Given the description of an element on the screen output the (x, y) to click on. 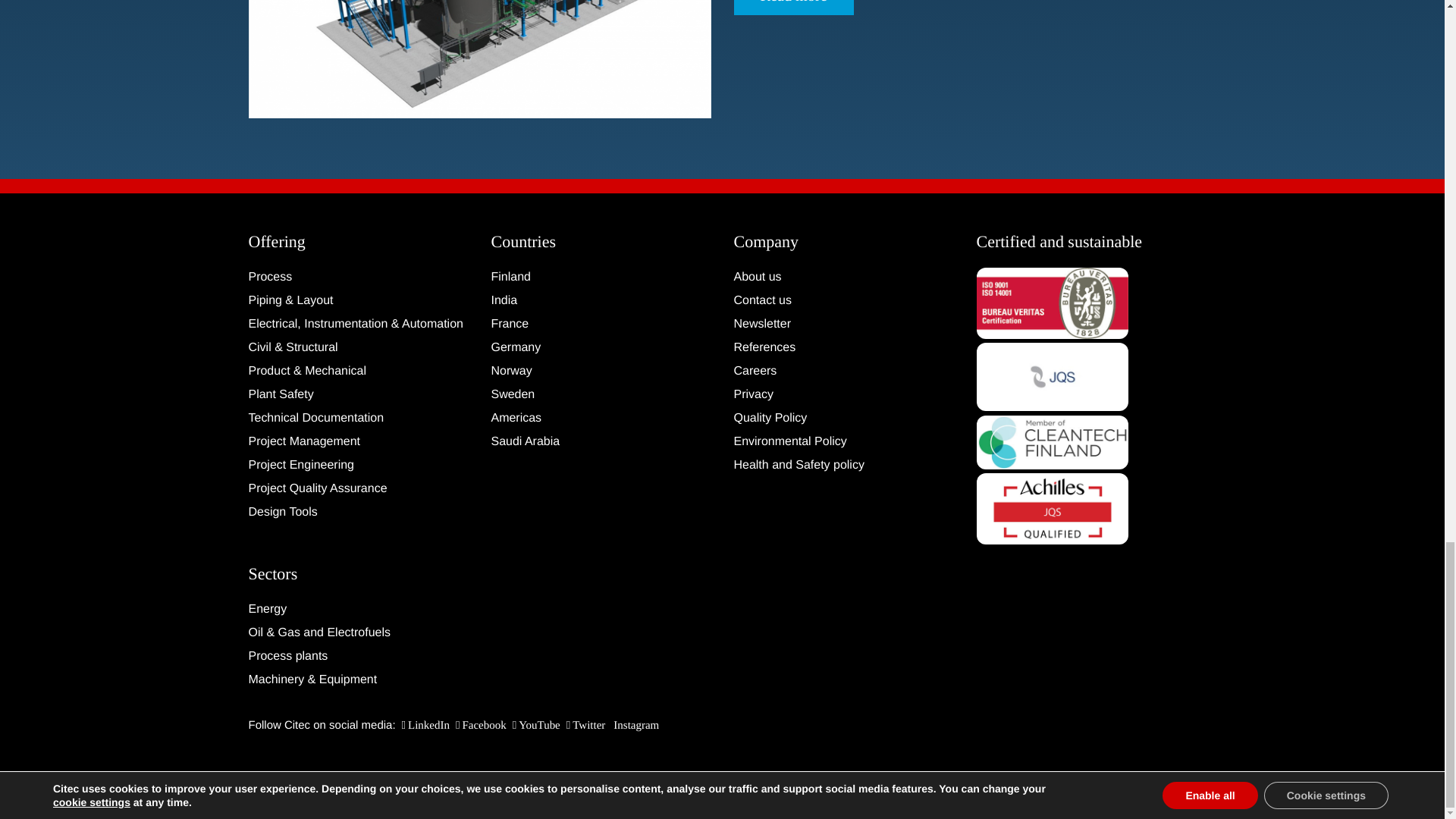
Project Management (358, 442)
Project Engineering (358, 465)
Technical Documentation (358, 418)
Plant Safety (358, 394)
Read more (793, 4)
Energy (358, 609)
Project Quality Assurance (358, 488)
Design Tools (358, 512)
Process (358, 277)
